Given the description of an element on the screen output the (x, y) to click on. 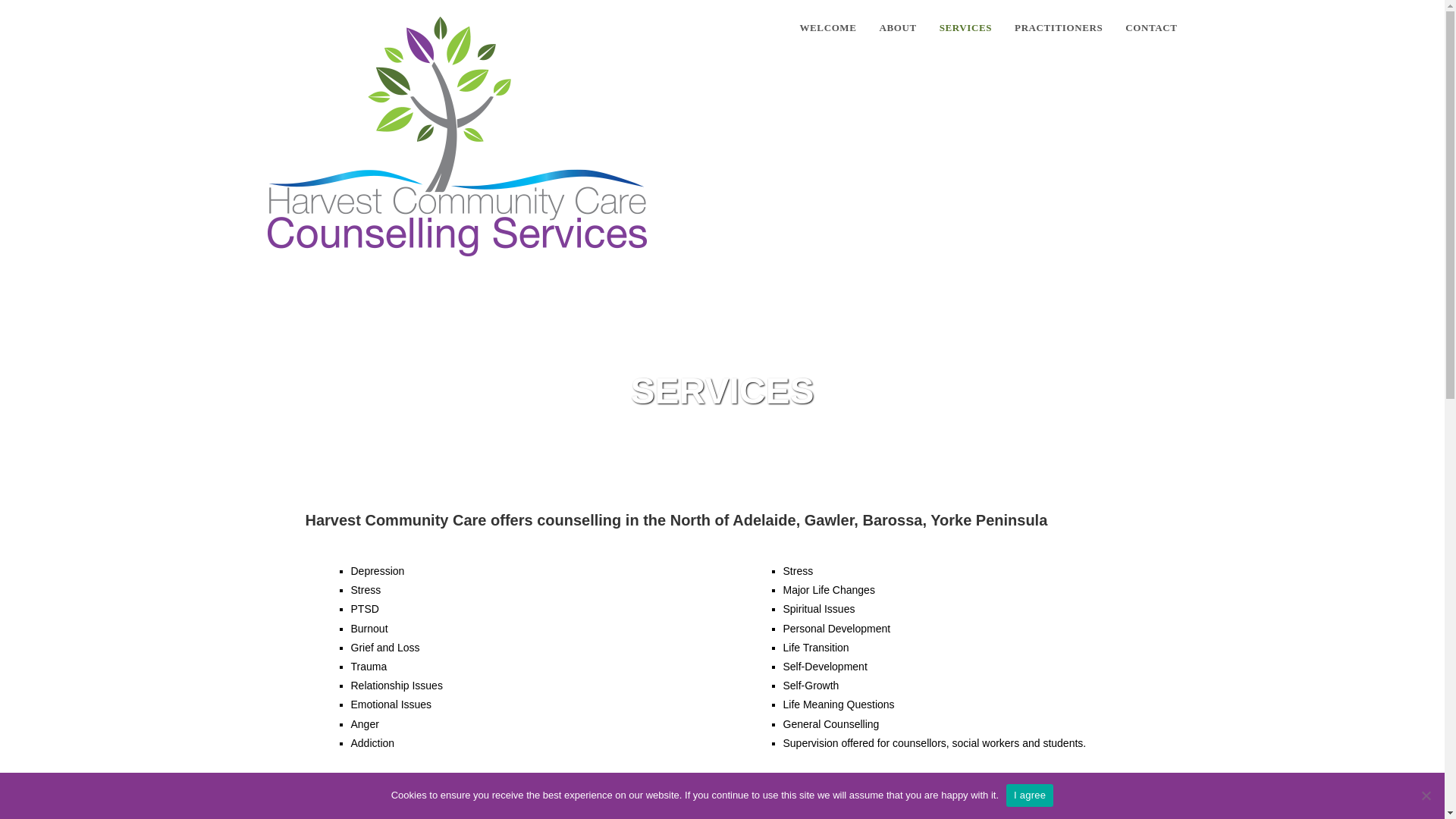
I agree (1029, 794)
CONTACT (1150, 28)
SERVICES (965, 28)
PRACTITIONERS (1058, 28)
ABOUT (897, 28)
WELCOME (828, 28)
